Given the description of an element on the screen output the (x, y) to click on. 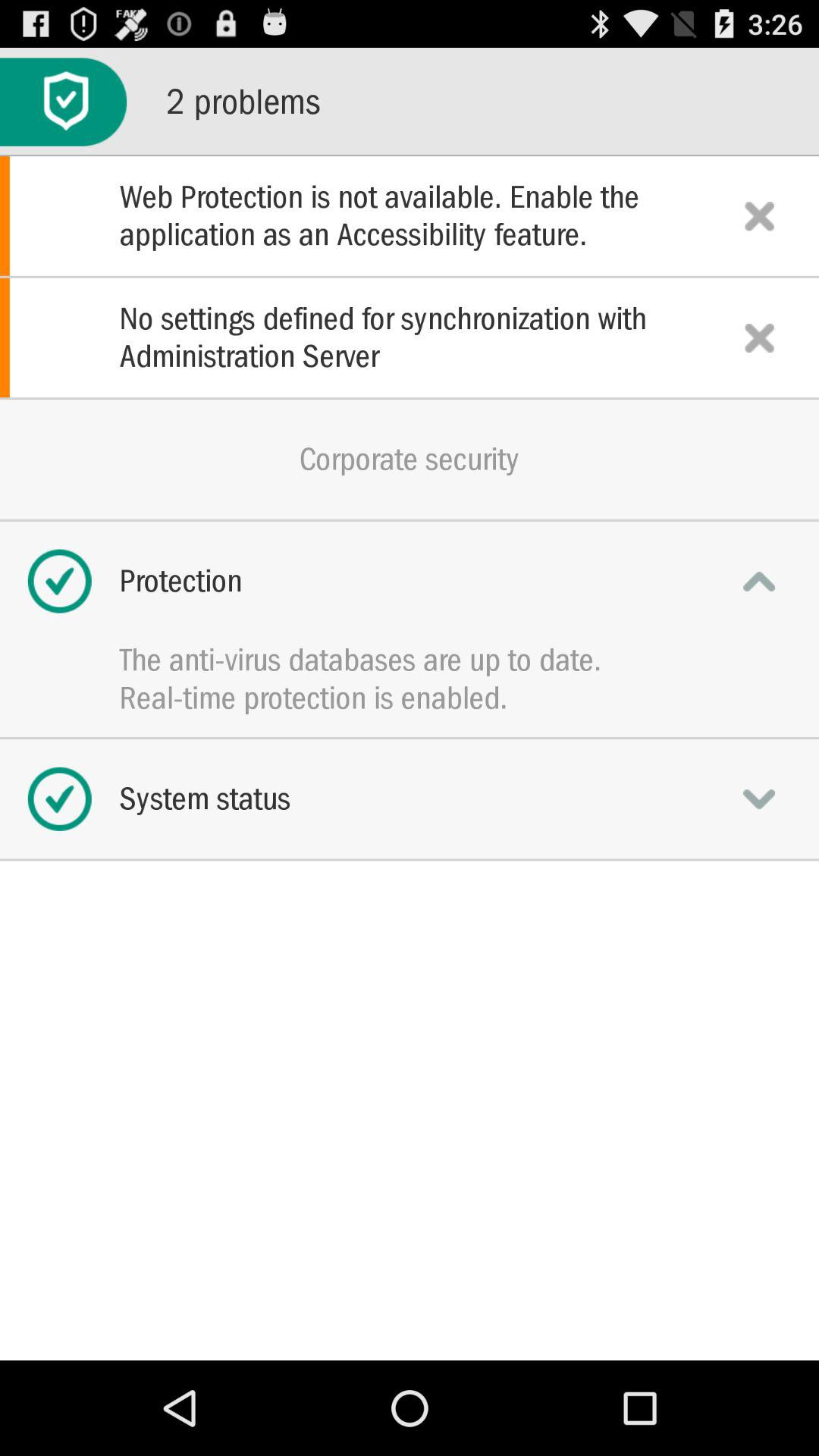
click on cancel (759, 337)
